Given the description of an element on the screen output the (x, y) to click on. 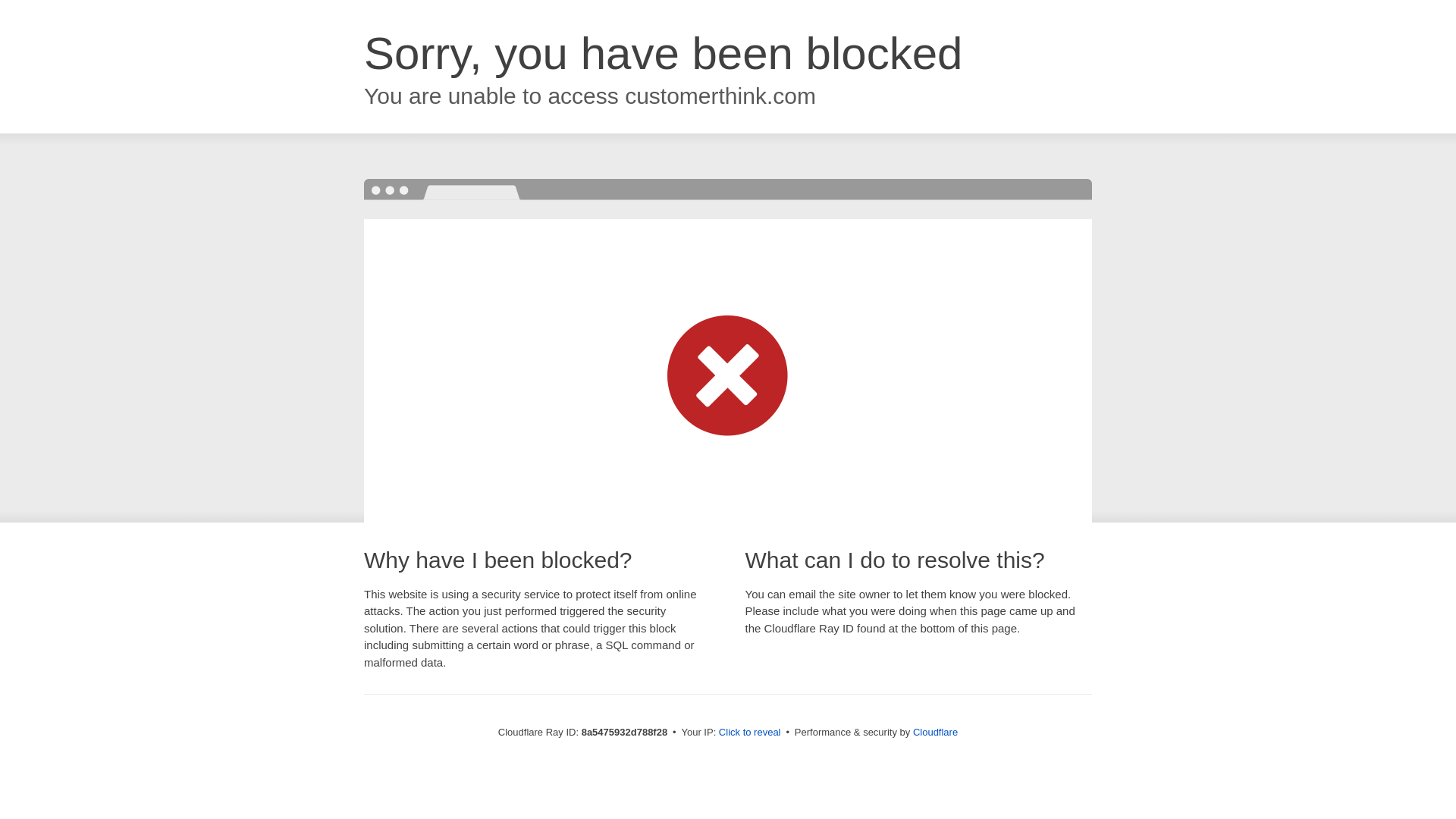
Cloudflare (935, 731)
Click to reveal (749, 732)
